Given the description of an element on the screen output the (x, y) to click on. 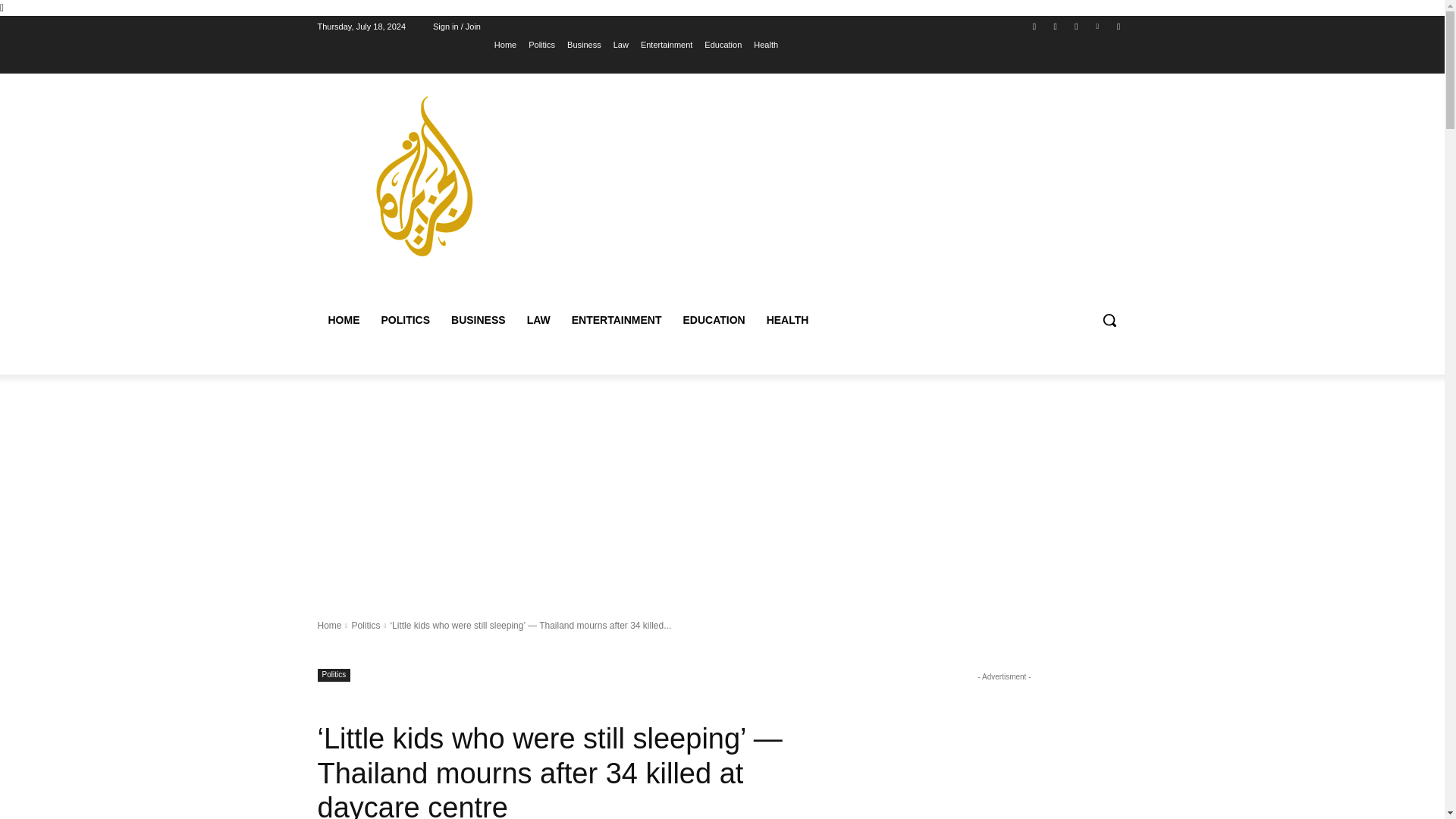
Politics (541, 44)
View all posts in Politics (365, 624)
HEALTH (787, 320)
EDUCATION (713, 320)
Twitter (1075, 27)
Home (328, 624)
ENTERTAINMENT (616, 320)
Home (505, 44)
Vimeo (1097, 27)
Instagram (1055, 27)
Entertainment (666, 44)
Youtube (1117, 27)
Education (722, 44)
BUSINESS (478, 320)
